Given the description of an element on the screen output the (x, y) to click on. 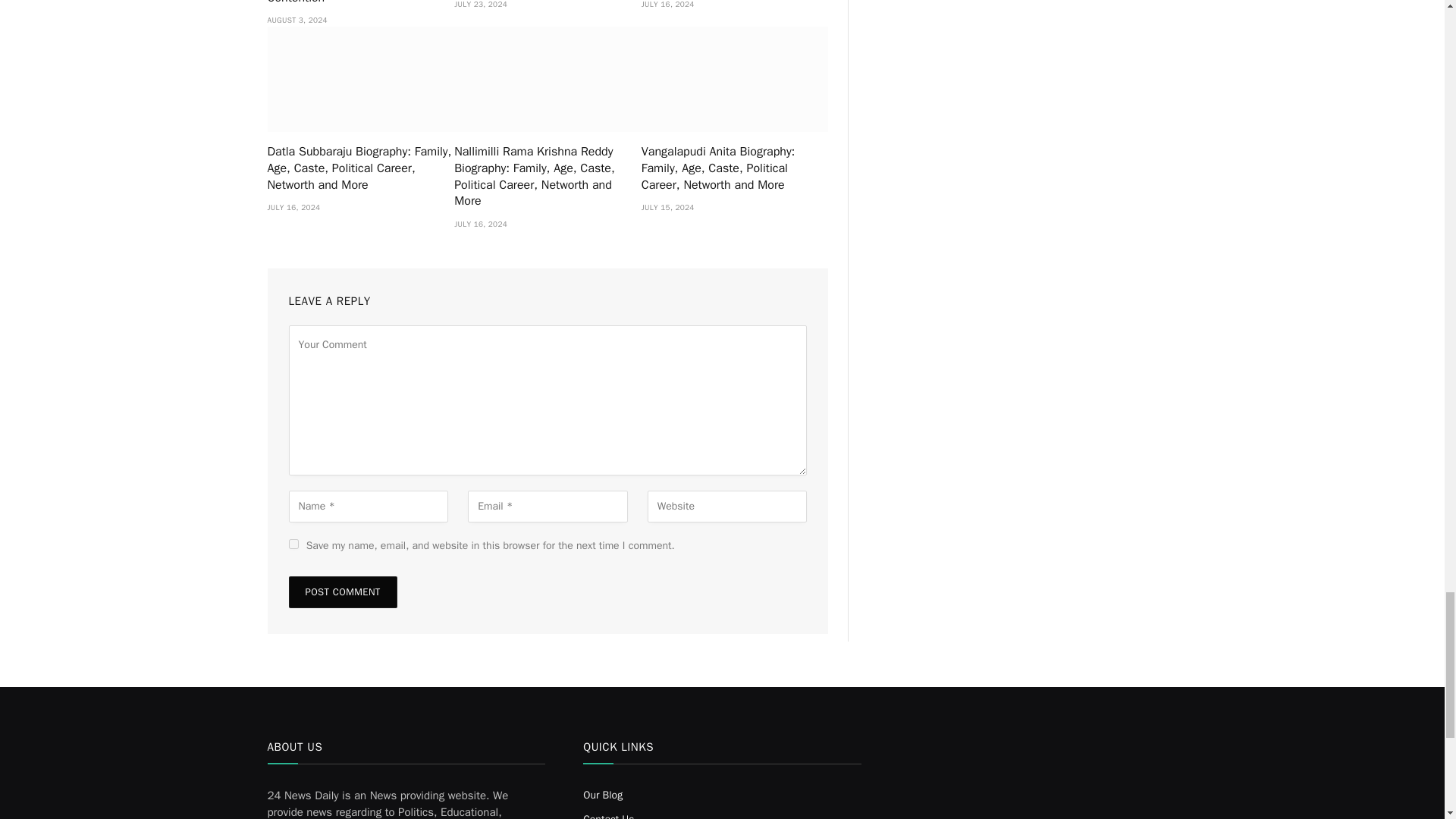
yes (293, 542)
Post Comment (342, 592)
